Given the description of an element on the screen output the (x, y) to click on. 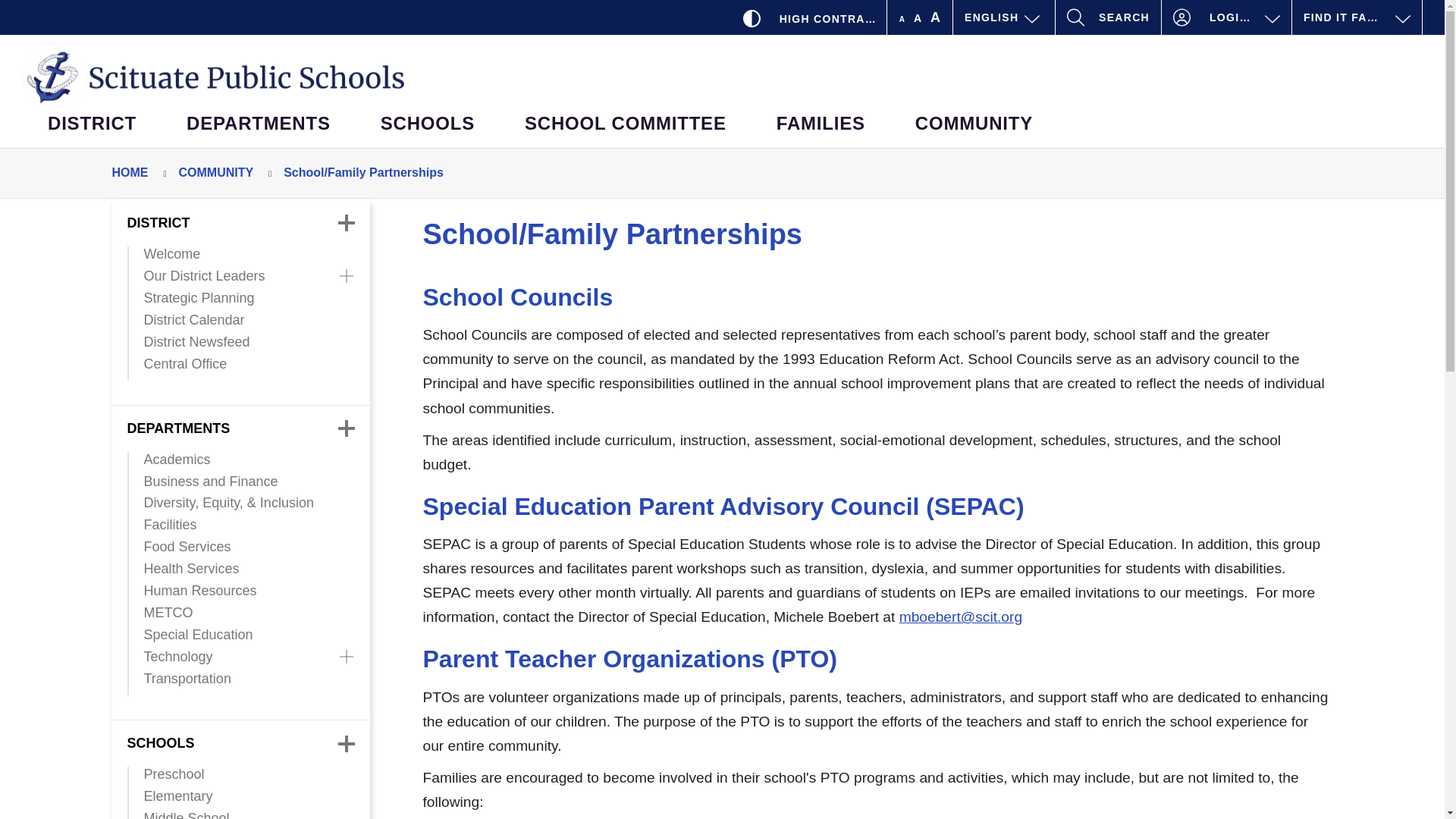
A (917, 18)
A (901, 19)
ENGLISH (1003, 17)
A (935, 17)
HIGH CONTRAST (810, 17)
